Given the description of an element on the screen output the (x, y) to click on. 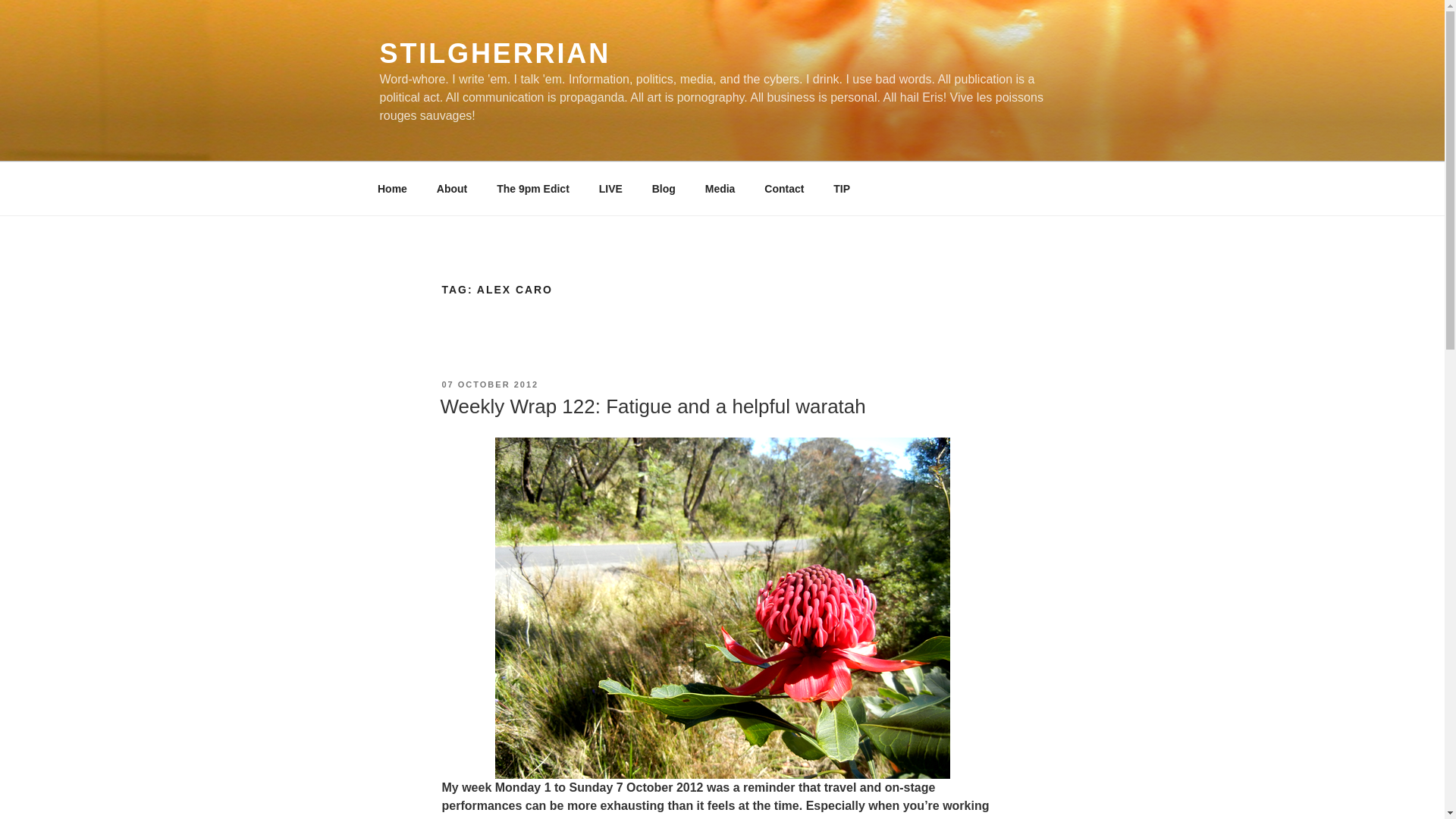
Media Output (719, 188)
07 OCTOBER 2012 (489, 384)
LIVE (609, 188)
Home (392, 188)
About (451, 188)
Blog (663, 188)
Contact (783, 188)
STILGHERRIAN (494, 52)
Contact (783, 188)
The 9pm Edict (533, 188)
TIP (842, 188)
About Stilgherrian (451, 188)
Media (719, 188)
Weekly Wrap 122: Fatigue and a helpful waratah (651, 405)
